Given the description of an element on the screen output the (x, y) to click on. 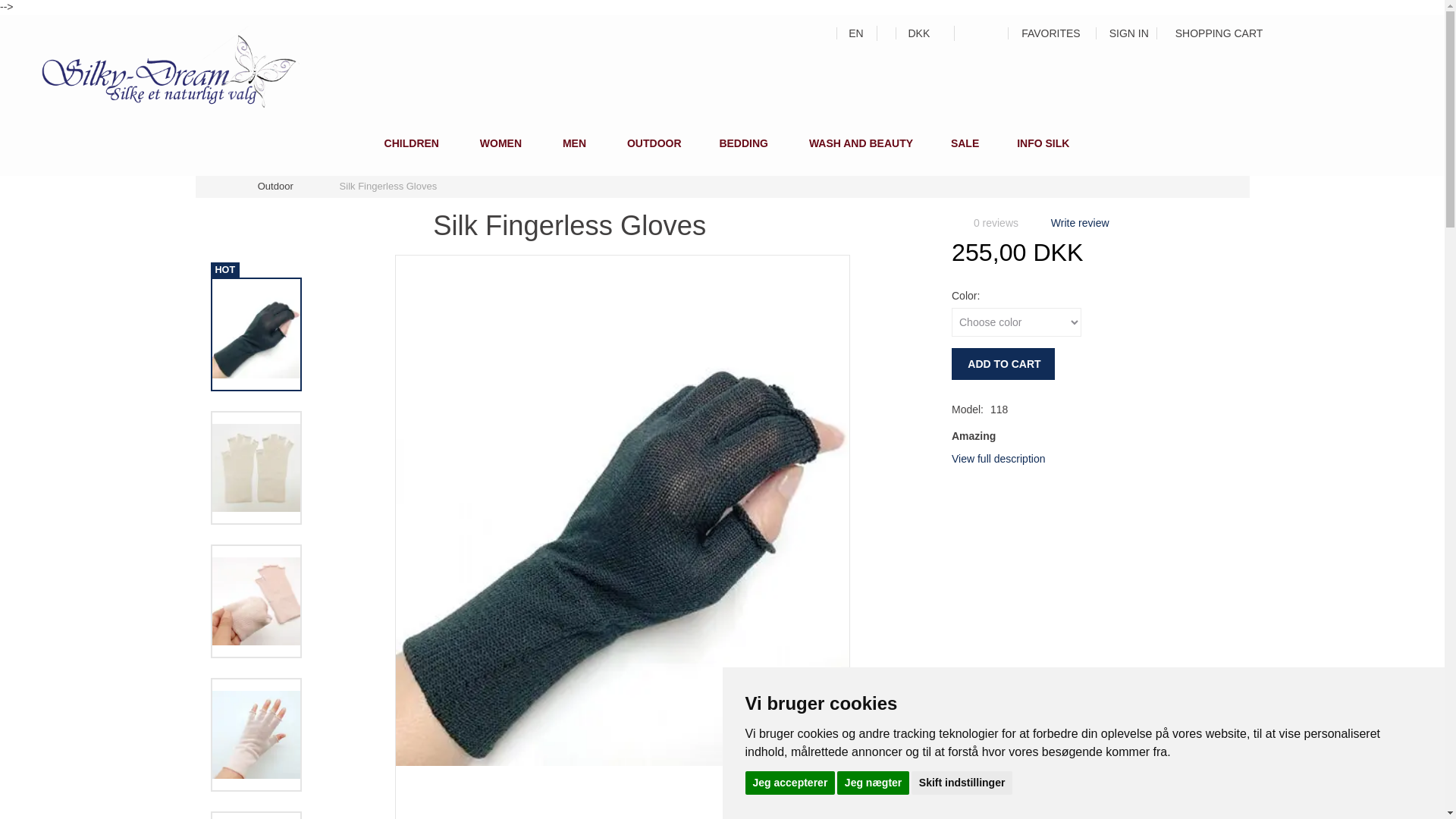
Skift indstillinger (962, 781)
SIGN IN (1121, 32)
EN (852, 32)
Favorites (1043, 32)
WOMEN (496, 145)
SHOPPING CART (1220, 32)
Login (1121, 32)
CHILDREN (406, 145)
DKK (915, 32)
FAVORITES (1043, 32)
Jeg accepterer (789, 781)
